Given the description of an element on the screen output the (x, y) to click on. 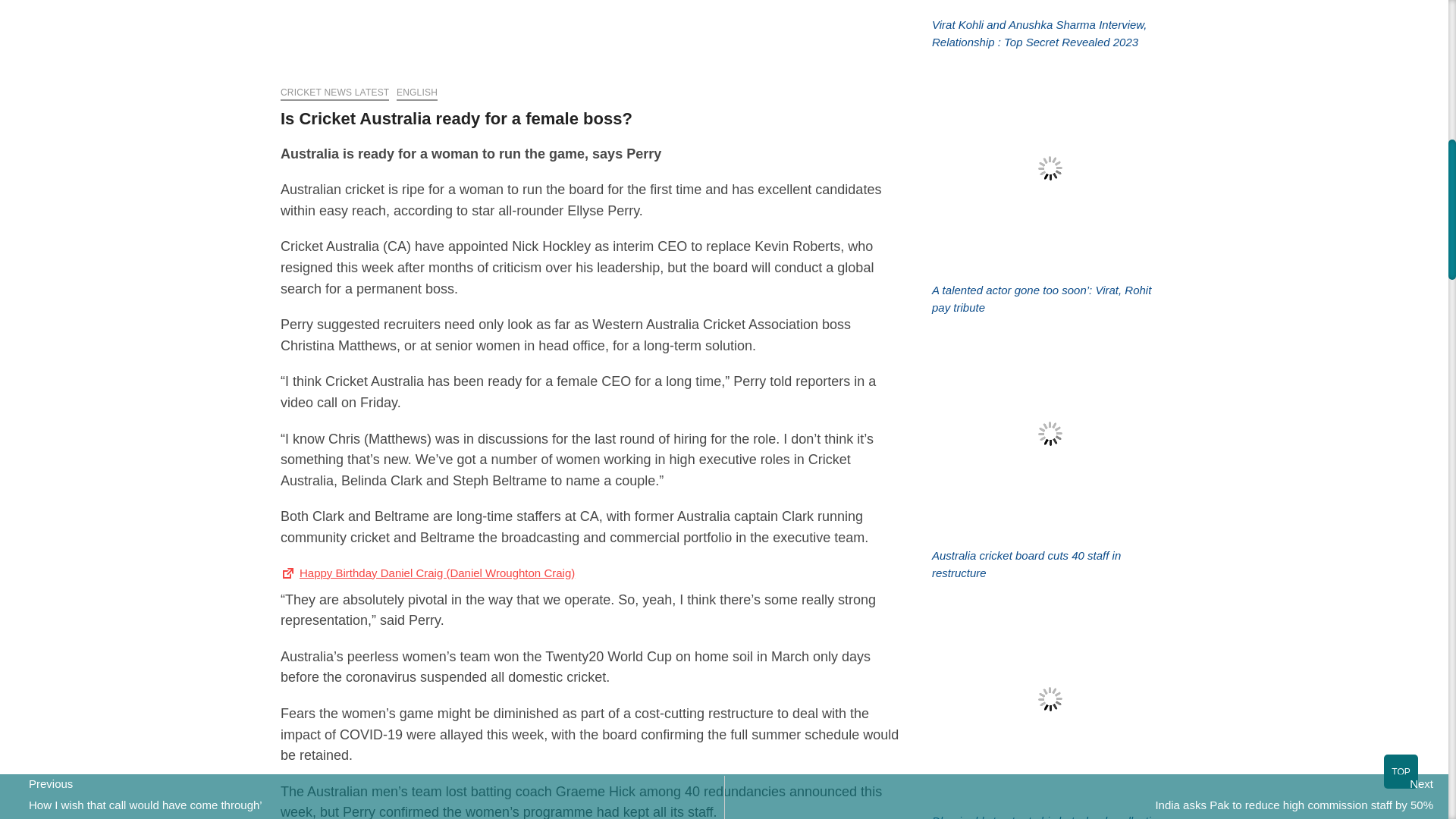
Is Cricket Australia ready for a female boss? 1 (591, 37)
